Given the description of an element on the screen output the (x, y) to click on. 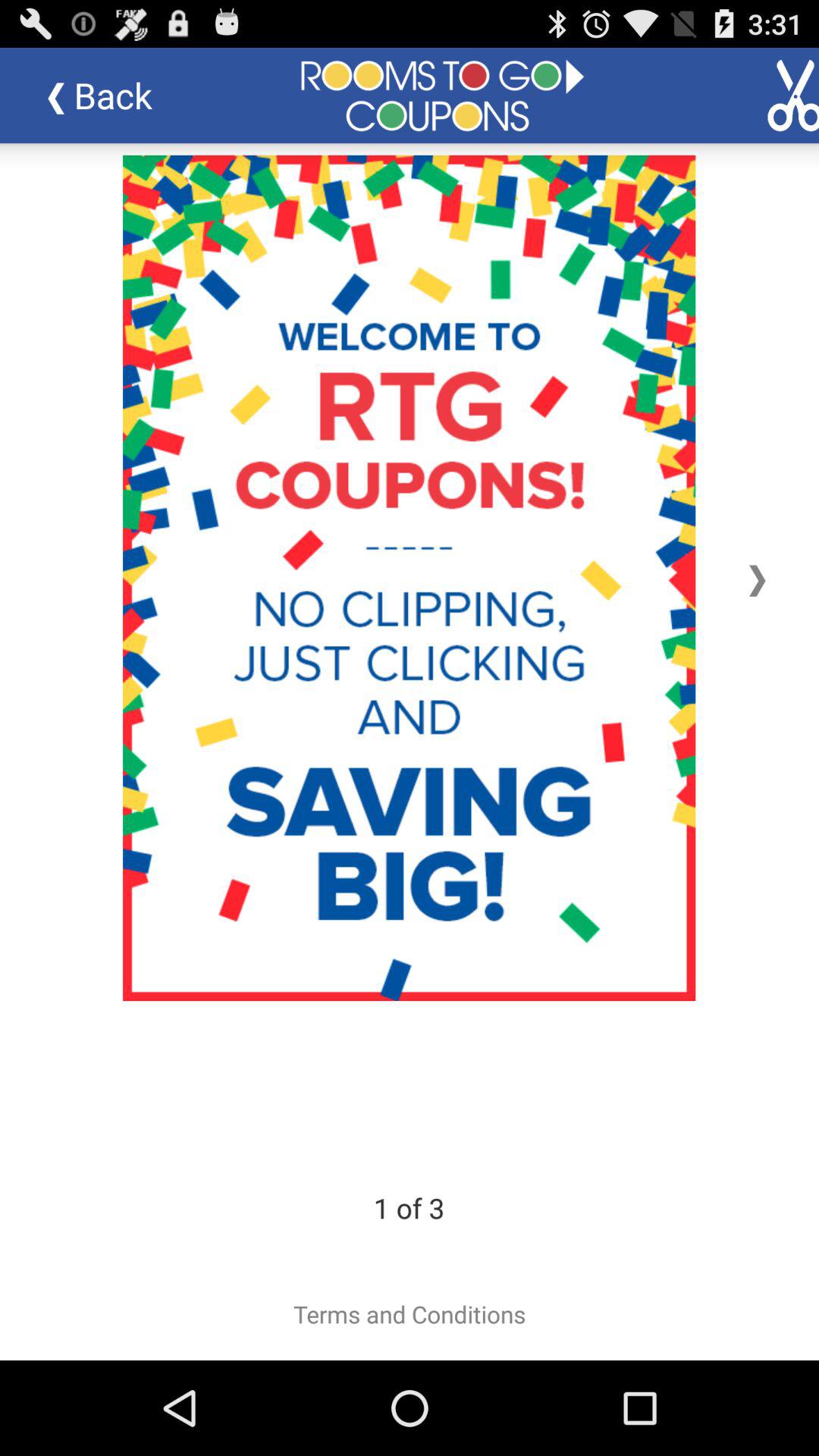
turn on the item on the right (756, 577)
